Given the description of an element on the screen output the (x, y) to click on. 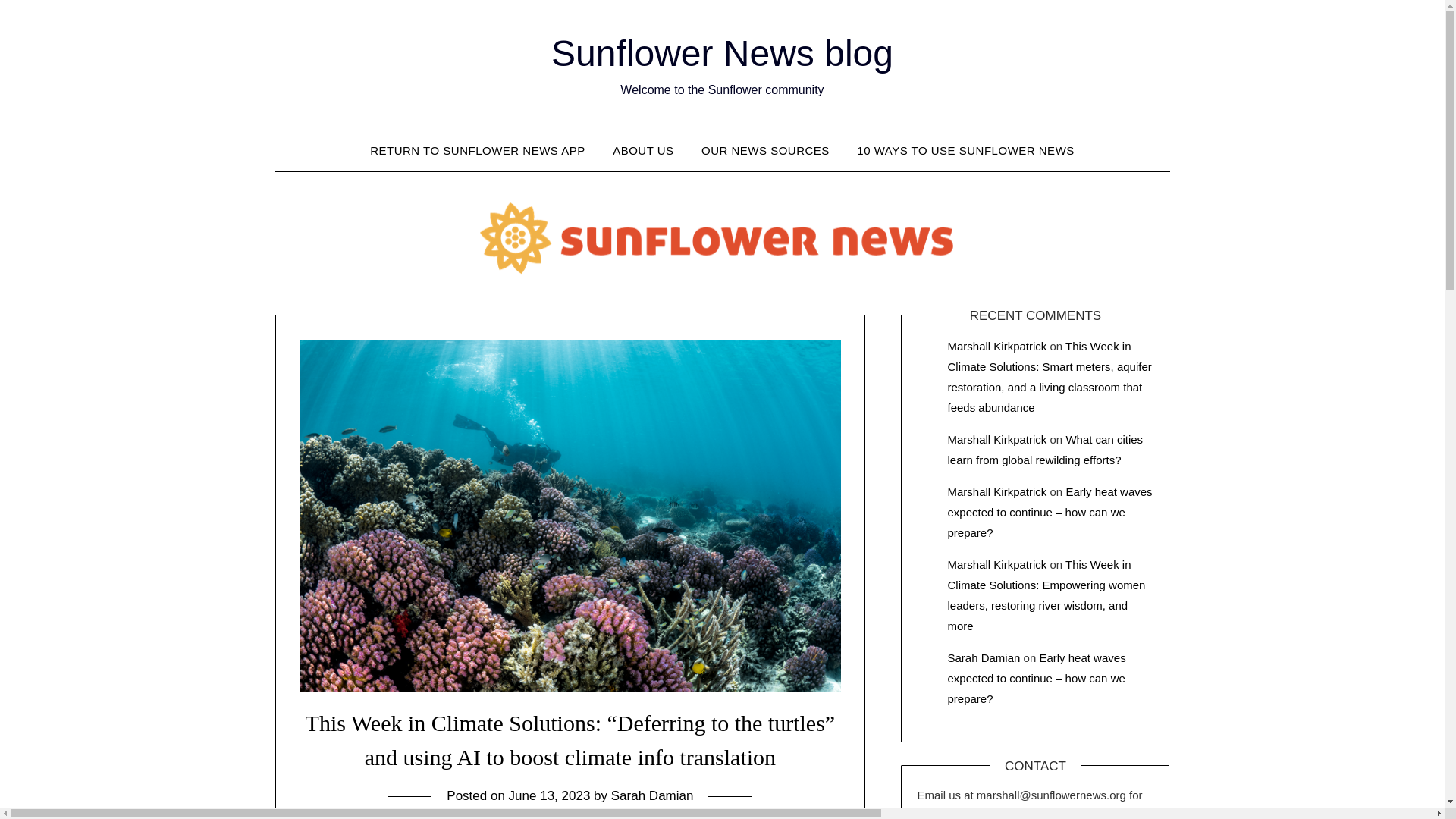
Marshall Kirkpatrick (996, 345)
Sarah Damian (983, 657)
Marshall Kirkpatrick (996, 563)
June 13, 2023 (549, 795)
10 WAYS TO USE SUNFLOWER NEWS (965, 150)
RETURN TO SUNFLOWER NEWS APP (477, 150)
OUR NEWS SOURCES (764, 150)
Sunflower News blog (722, 53)
ABOUT US (642, 150)
Sarah Damian (652, 795)
Marshall Kirkpatrick (996, 439)
Marshall Kirkpatrick (996, 491)
What can cities learn from global rewilding efforts? (1044, 449)
